Given the description of an element on the screen output the (x, y) to click on. 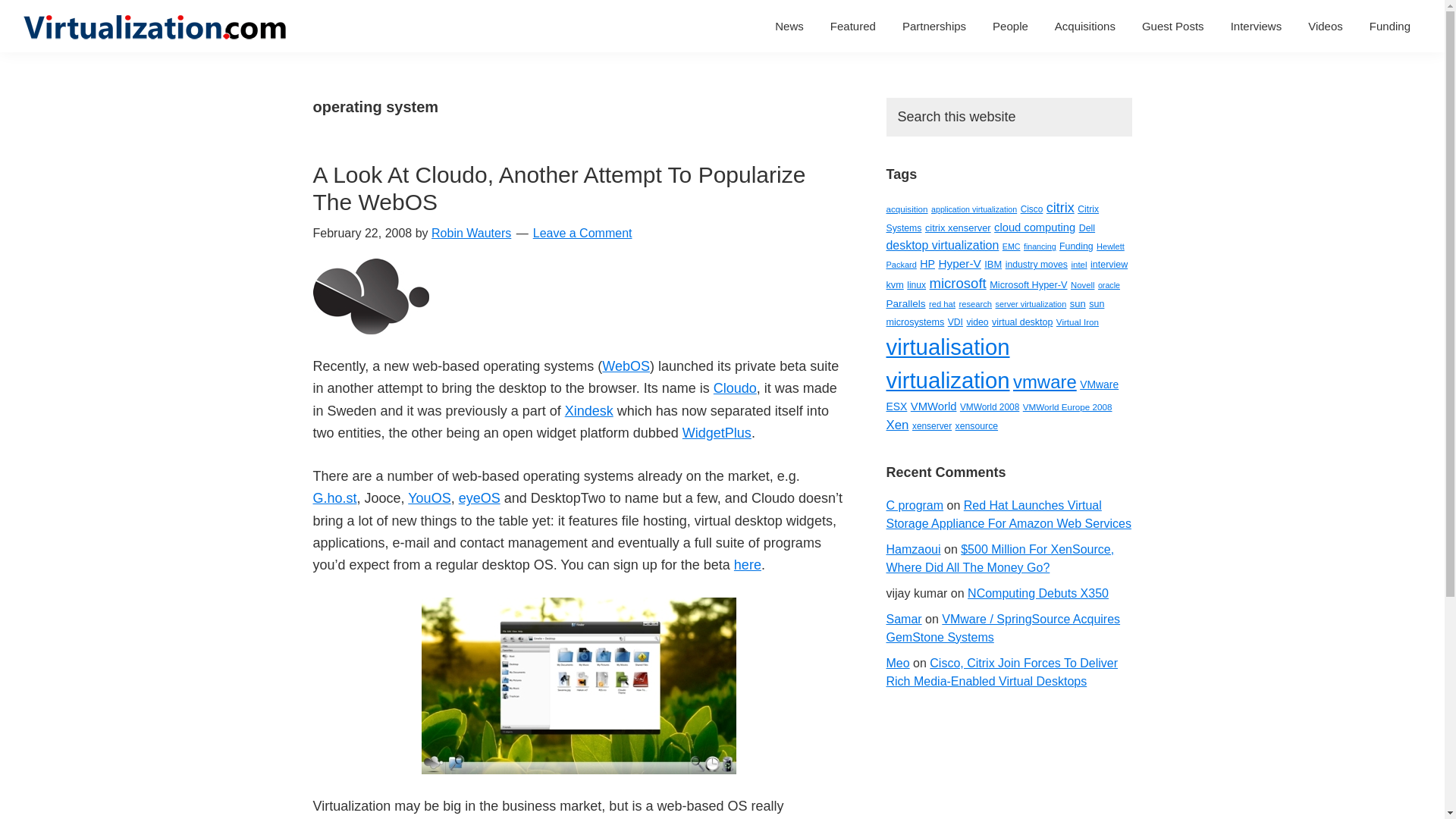
Xindesk (588, 410)
WidgetPlus (716, 432)
Cloudo (735, 387)
YouOS (428, 498)
Featured (852, 25)
G.ho.st (334, 498)
Funding (1390, 25)
virtualization-cloudo-desktop1.jpg (579, 607)
WebOS (625, 365)
eyeOS (479, 498)
virtualization-cloudo.jpg (370, 268)
Partnerships (933, 25)
News (788, 25)
